Given the description of an element on the screen output the (x, y) to click on. 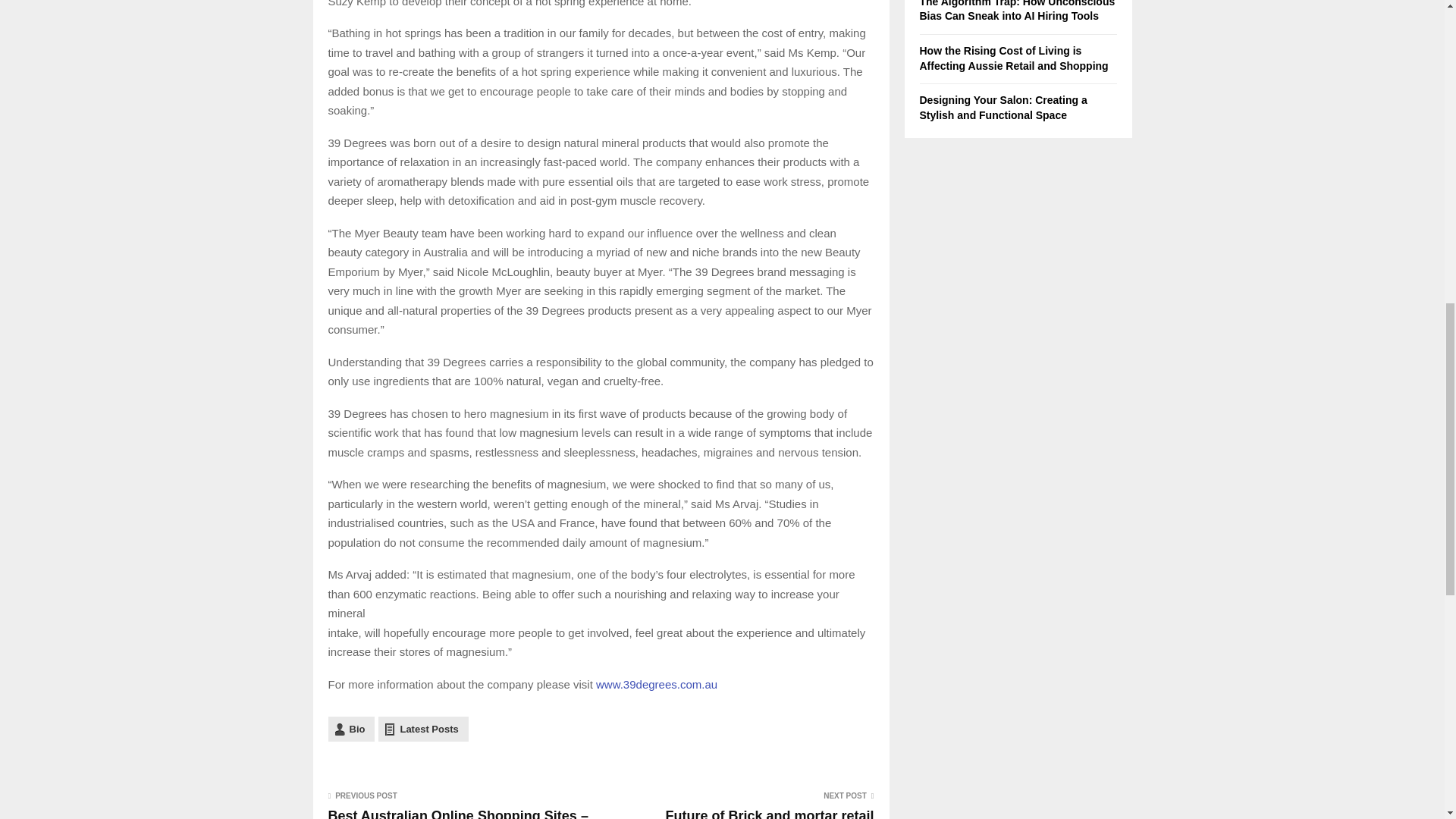
Bio (350, 729)
Latest Posts (422, 729)
www.39degrees.com.au (656, 684)
